Given the description of an element on the screen output the (x, y) to click on. 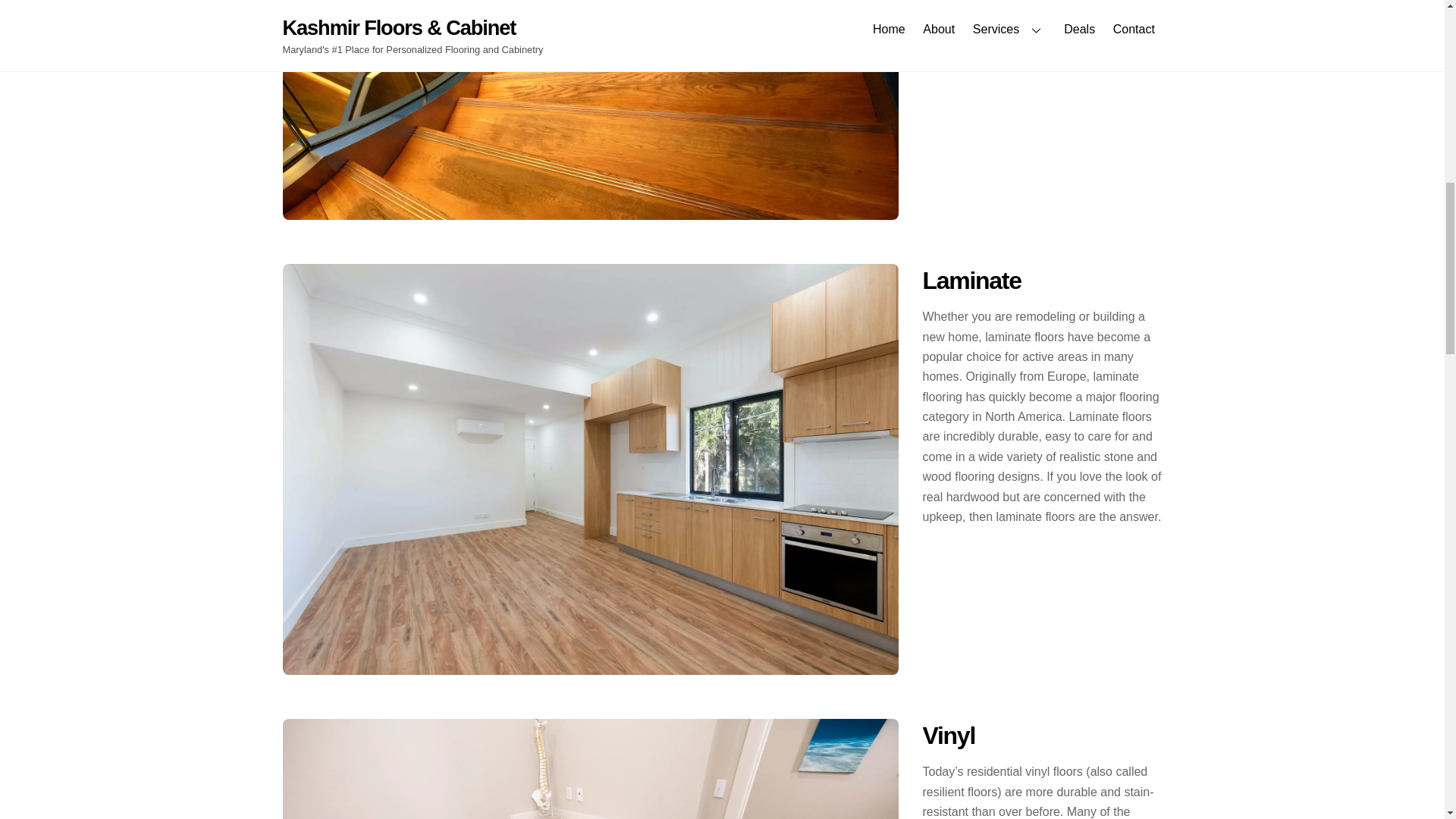
vinyl (590, 769)
